Given the description of an element on the screen output the (x, y) to click on. 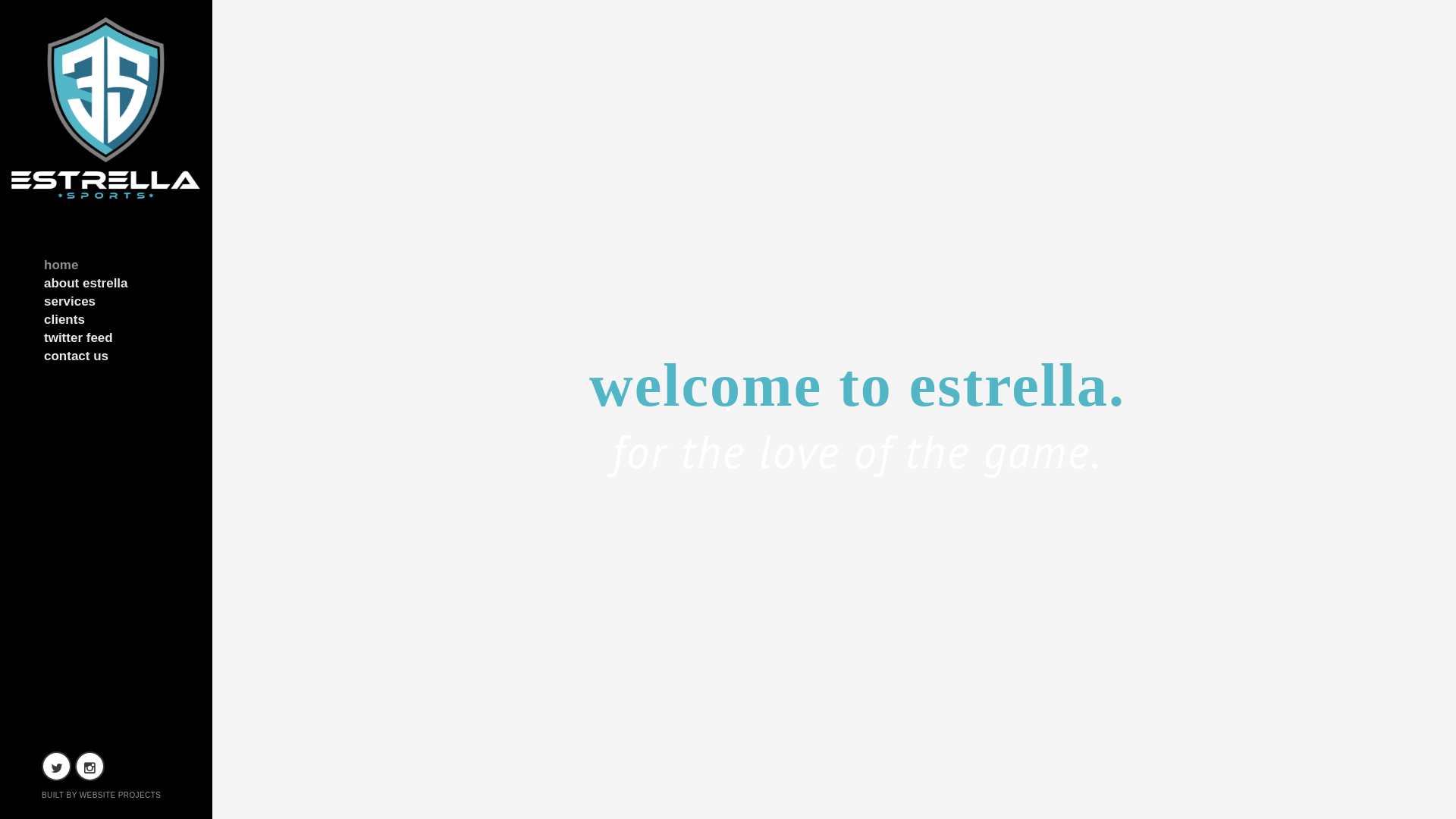
about estrella Element type: text (106, 286)
twitter feed Element type: text (106, 341)
WEBSITE PROJECTS Element type: text (120, 794)
contact us Element type: text (106, 359)
clients Element type: text (106, 322)
services Element type: text (106, 304)
home Element type: text (106, 268)
